Given the description of an element on the screen output the (x, y) to click on. 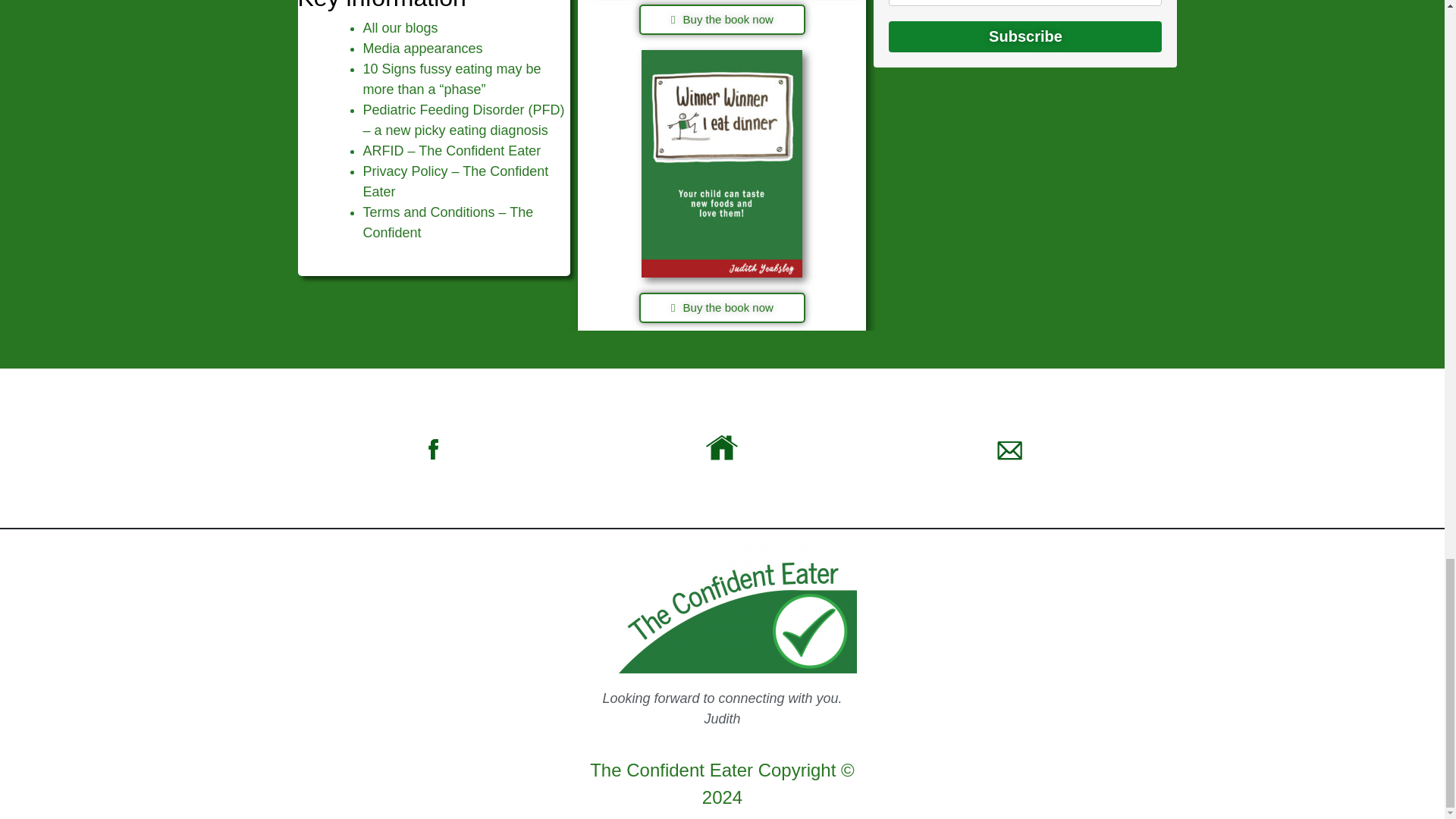
All our blogs (400, 28)
Media appearances (421, 48)
Subscribe (1024, 36)
Buy the book now (722, 307)
Buy the book now (722, 19)
